Given the description of an element on the screen output the (x, y) to click on. 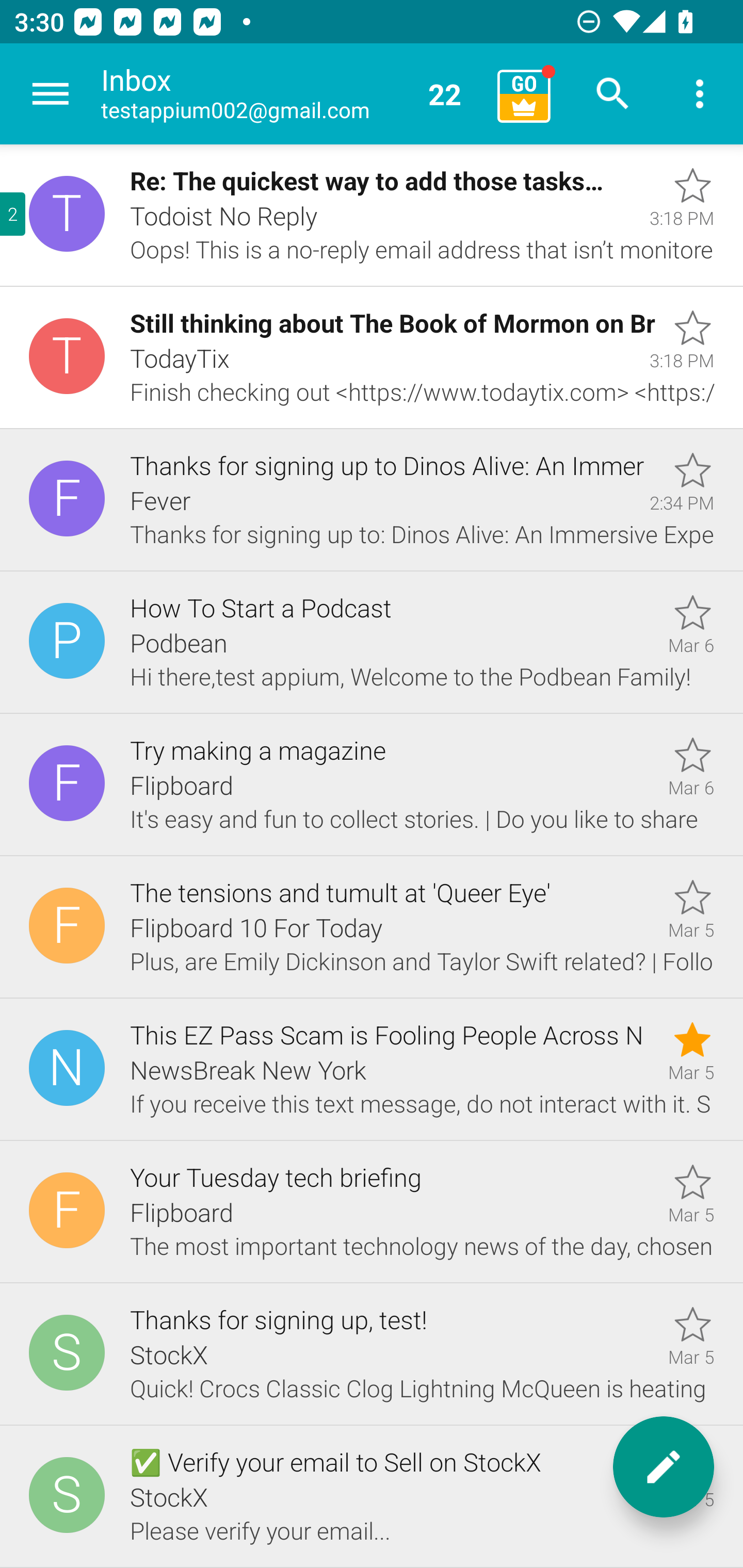
Navigate up (50, 93)
Inbox testappium002@gmail.com 22 (291, 93)
Search (612, 93)
More options (699, 93)
New message (663, 1466)
